Given the description of an element on the screen output the (x, y) to click on. 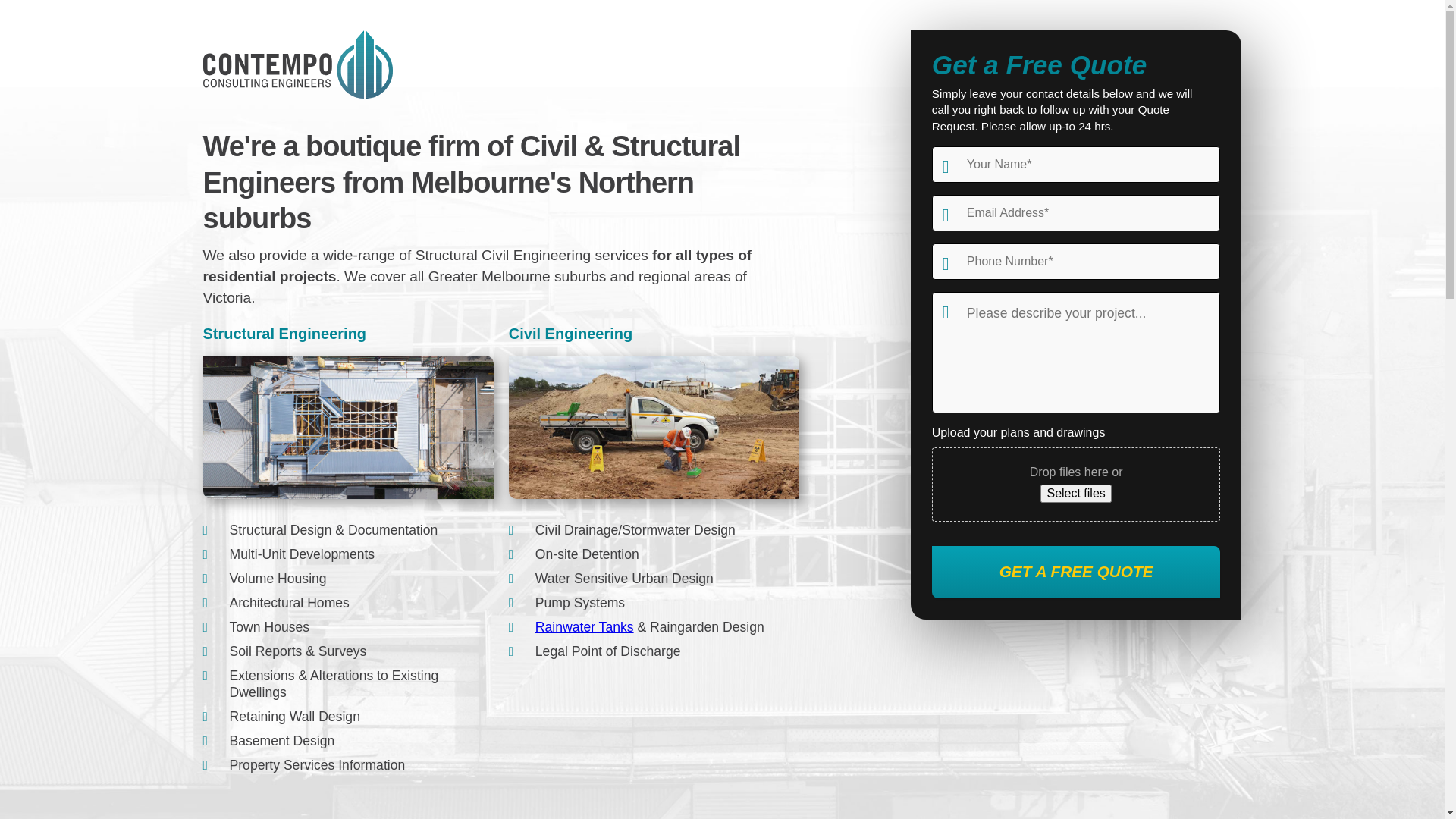
Rainwater Tanks Element type: text (584, 626)
Contempo Consulting Element type: text (297, 64)
Structural Engineering Services Element type: hover (348, 427)
Civil Engineering Services Element type: hover (653, 427)
Get a Free Quote Element type: text (1075, 572)
